Given the description of an element on the screen output the (x, y) to click on. 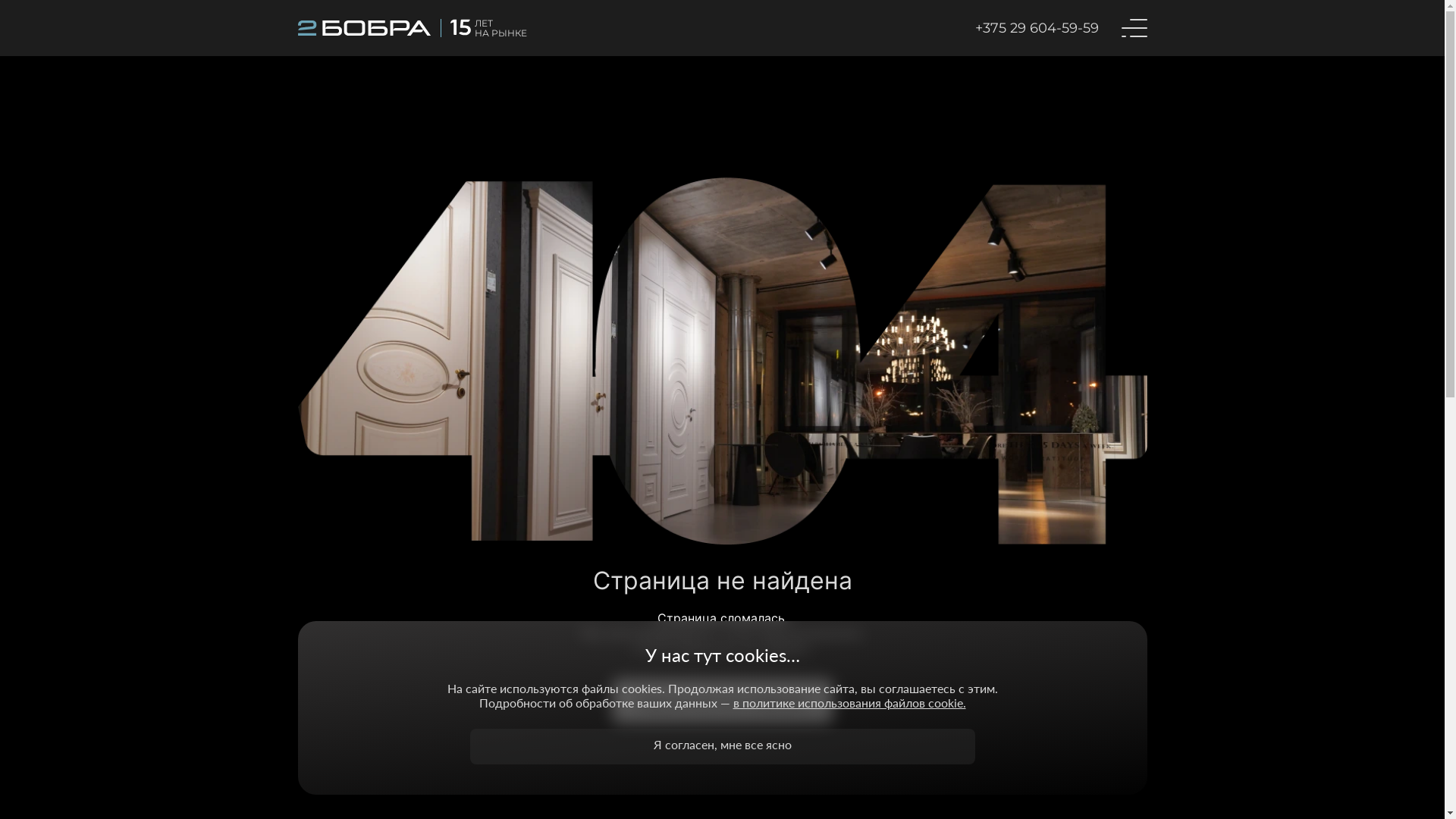
+375 29 604-59-59 Element type: text (1036, 27)
